Given the description of an element on the screen output the (x, y) to click on. 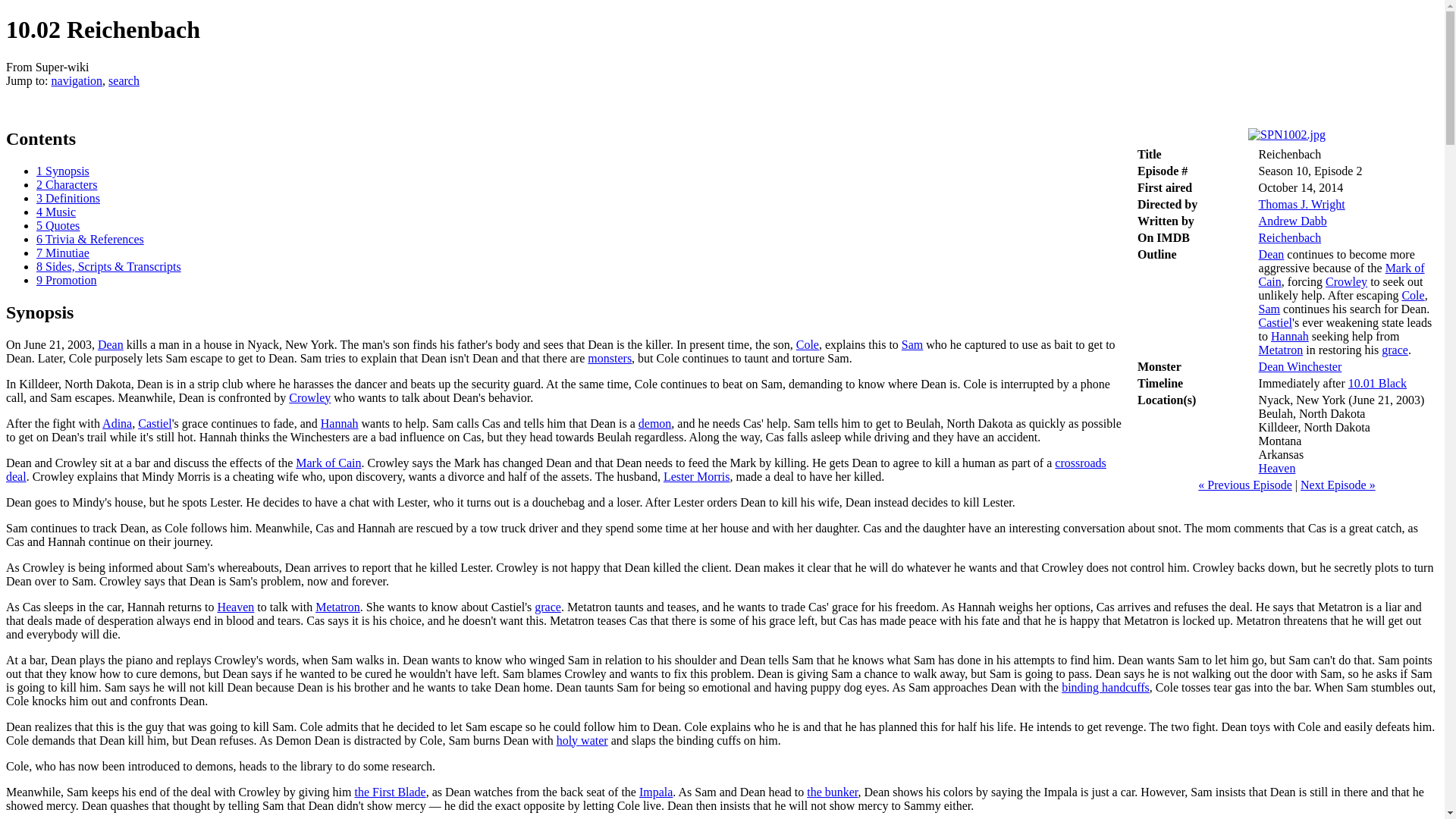
7 Minutiae (62, 252)
Dean Winchester (1300, 366)
Sam (912, 344)
Mark of Cain (1342, 274)
navigation (76, 80)
Hannah (1289, 336)
1 Synopsis (62, 170)
monsters (609, 358)
Hannah (339, 422)
Sam (1269, 308)
Crowley (1345, 281)
Crowley (1345, 281)
Dean (1271, 254)
4 Music (55, 211)
Sam (1269, 308)
